Given the description of an element on the screen output the (x, y) to click on. 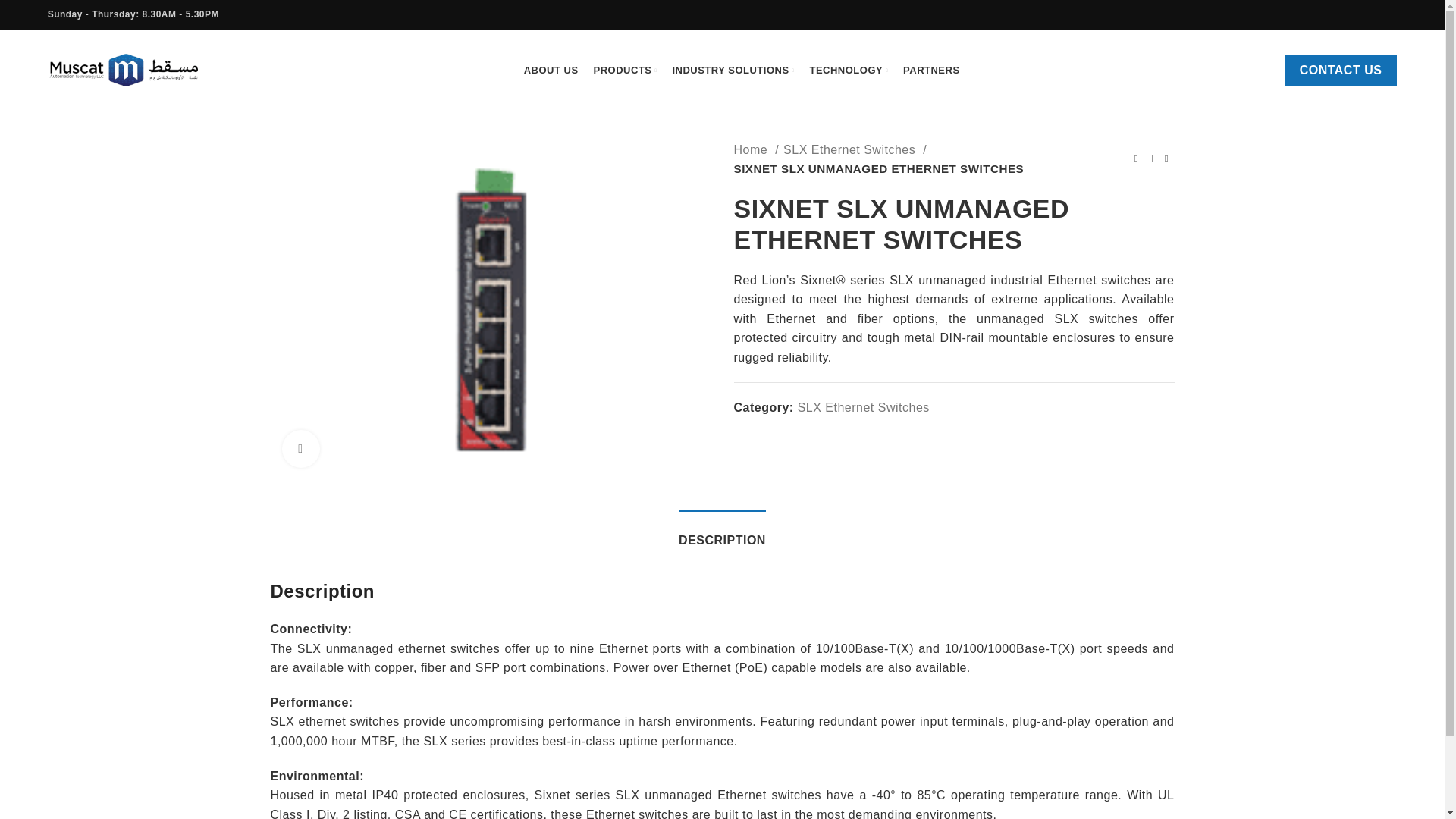
PRODUCTS (625, 69)
ABOUT US (551, 69)
